Given the description of an element on the screen output the (x, y) to click on. 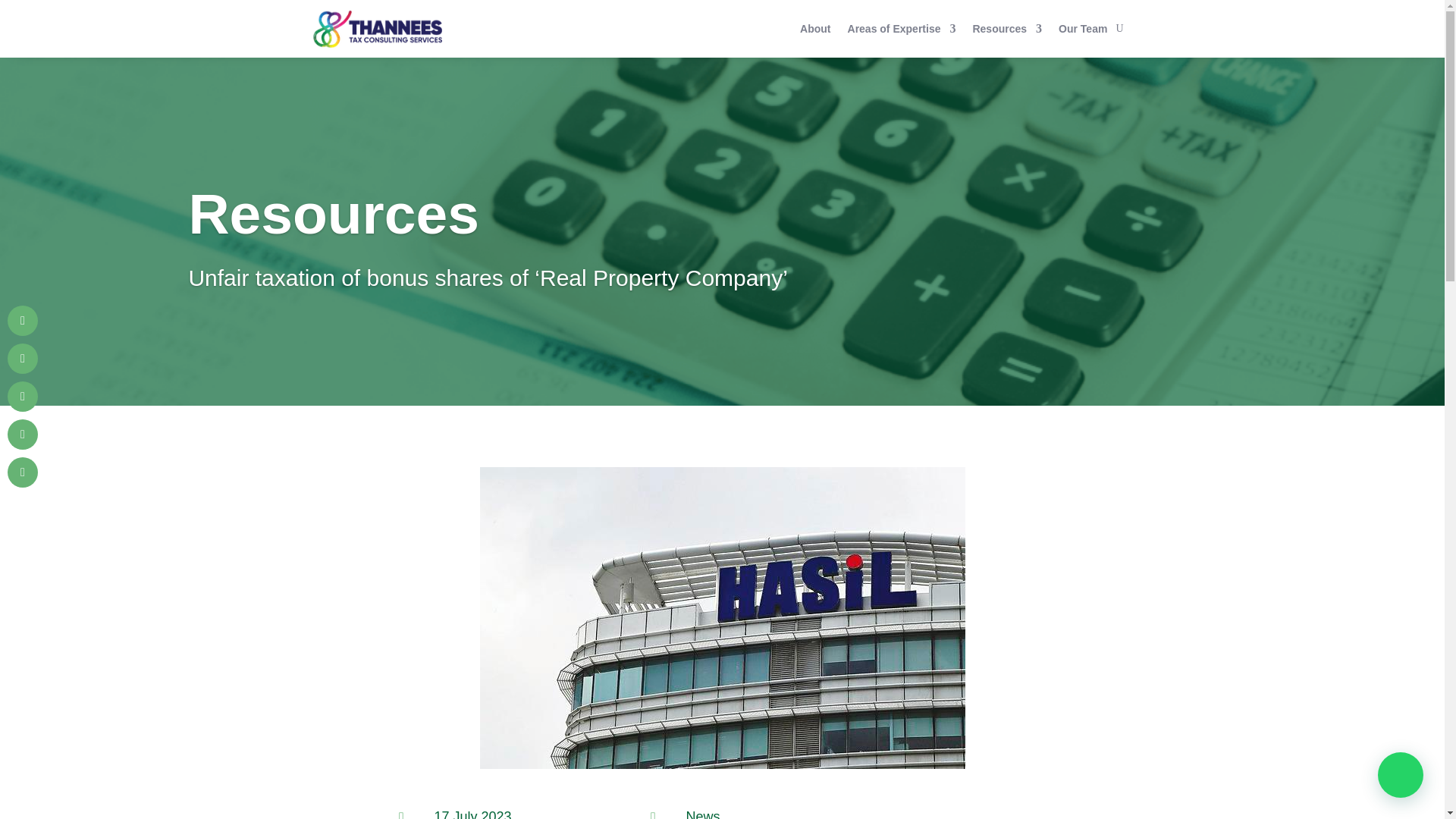
Areas of Expertise (901, 28)
Resources (1007, 28)
News (702, 813)
